Given the description of an element on the screen output the (x, y) to click on. 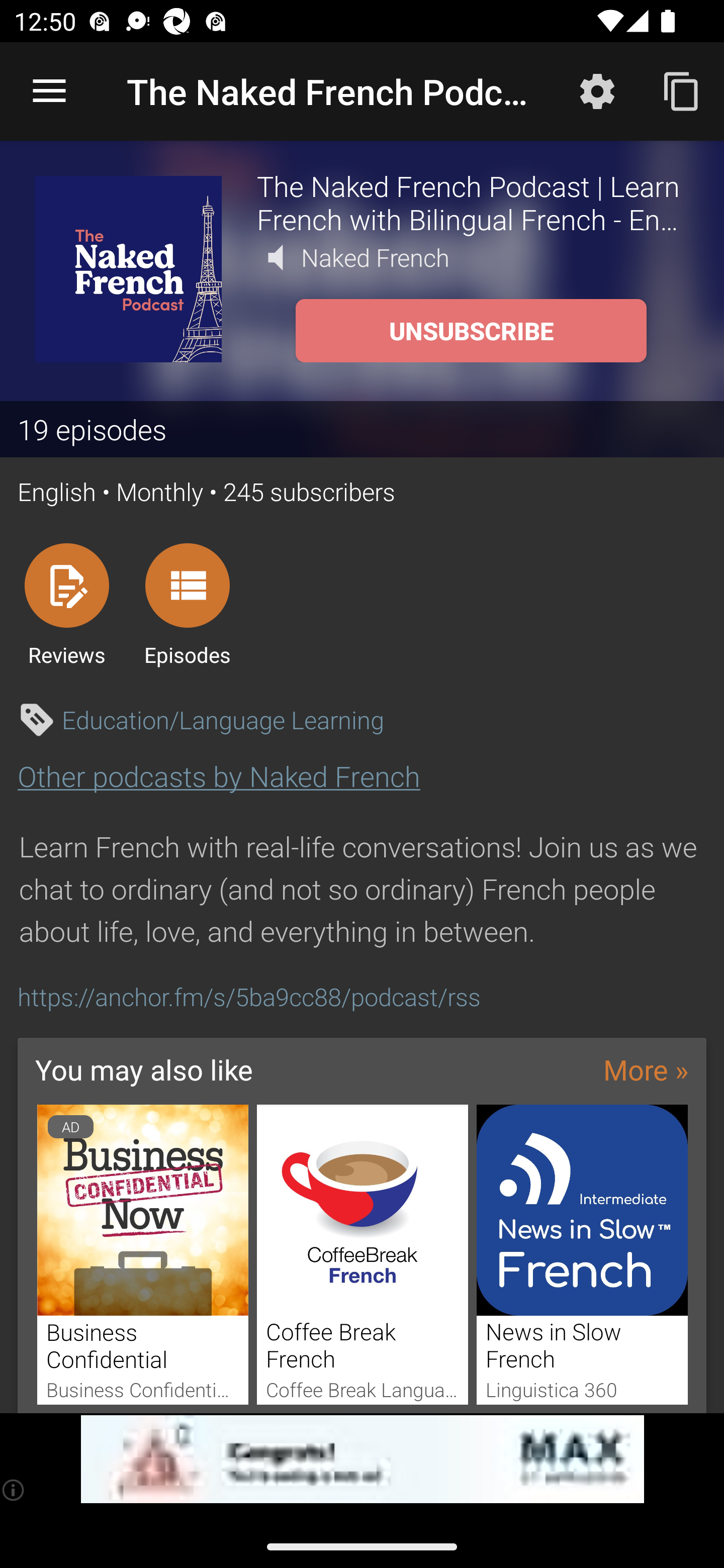
Open navigation sidebar (49, 91)
Settings (597, 90)
Copy feed url to clipboard (681, 90)
UNSUBSCRIBE (470, 330)
Reviews (66, 604)
Episodes (187, 604)
Other podcasts by Naked French (218, 775)
More » (645, 1069)
Coffee Break French Coffee Break Languages (362, 1253)
News in Slow French Linguistica 360 (581, 1253)
app-monetization (362, 1459)
(i) (14, 1489)
